Given the description of an element on the screen output the (x, y) to click on. 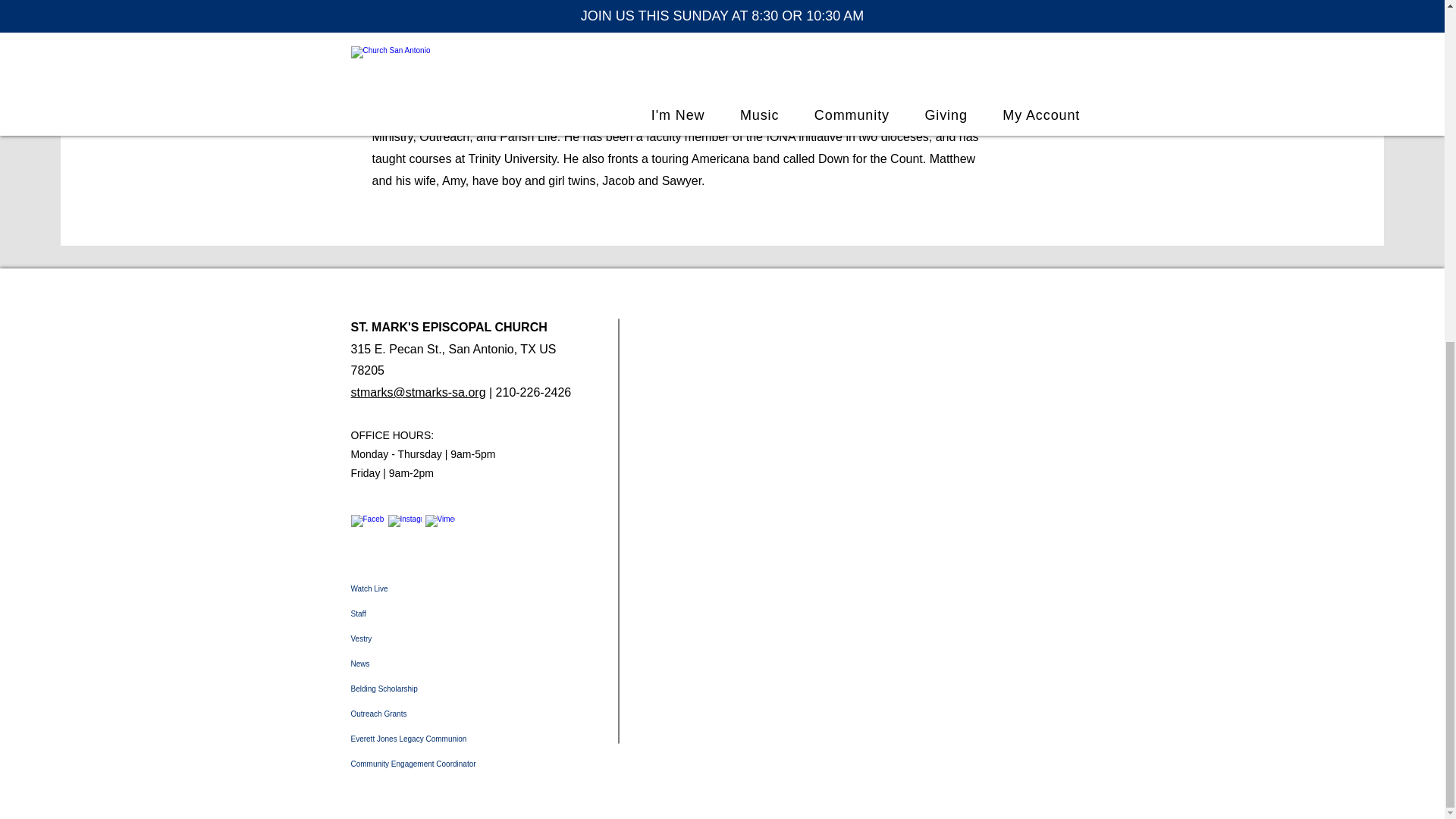
Belding Scholarship (465, 688)
News (465, 663)
Everett Jones Legacy Communion (465, 738)
Watch Live (465, 588)
Staff (465, 613)
Vestry (465, 638)
Outreach Grants (465, 713)
Community Engagement Coordinator (465, 763)
